Given the description of an element on the screen output the (x, y) to click on. 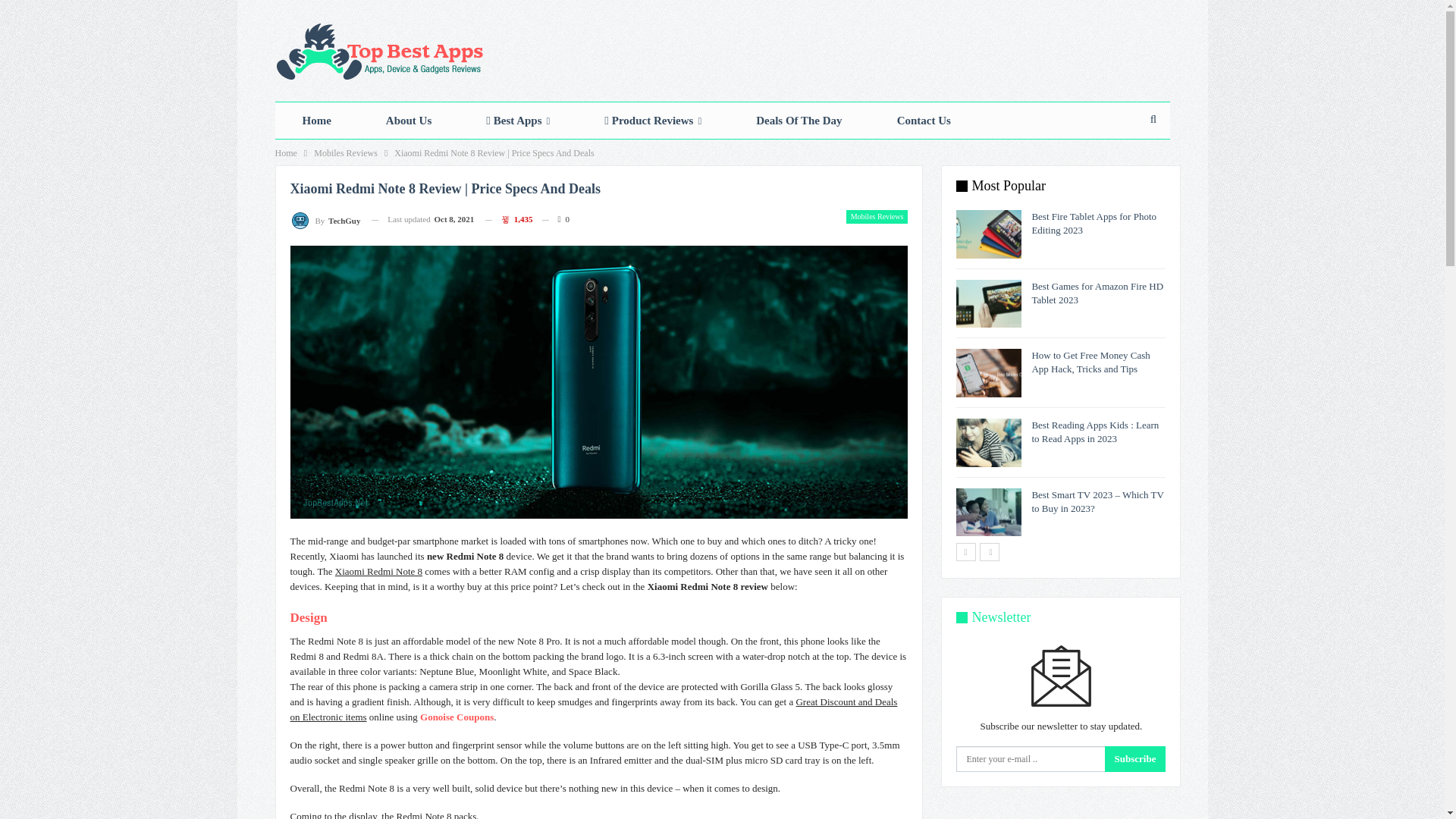
Home (286, 152)
Best Games for Amazon Fire HD Tablet 2023 (989, 304)
Gonoise Coupons (456, 716)
Mobiles Reviews (345, 152)
Best Apps (517, 120)
Best Fire Tablet Apps for Photo Editing 2023 (989, 233)
How to Get Free Money Cash App Hack, Tricks and Tips (989, 372)
Home (316, 120)
Best Reading Apps Kids : Learn to Read Apps in 2023 (989, 442)
Product Reviews (652, 120)
Contact Us (923, 120)
By TechGuy (324, 219)
About Us (408, 120)
Mobiles Reviews (876, 216)
Deals Of The Day (799, 120)
